Given the description of an element on the screen output the (x, y) to click on. 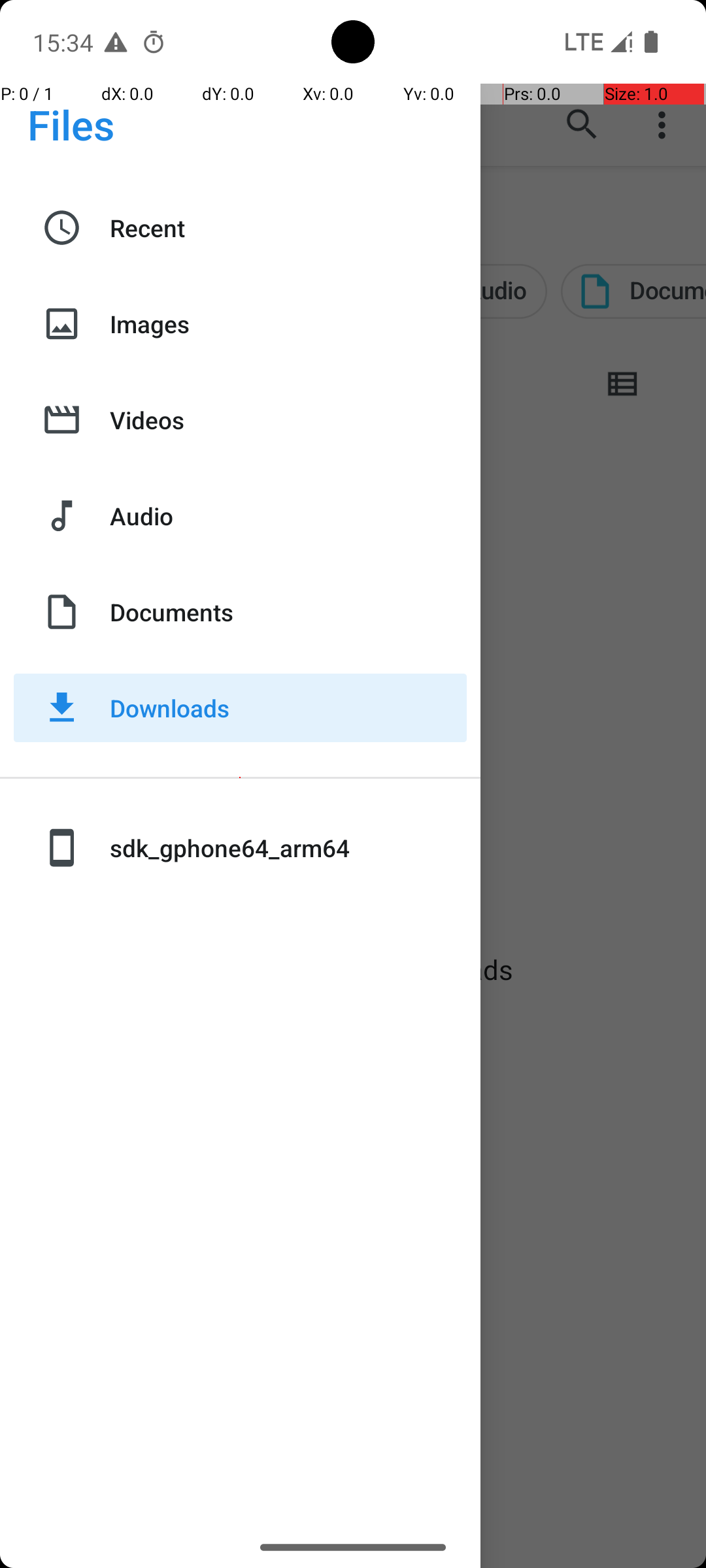
Files Element type: android.widget.TextView (70, 124)
sdk_gphone64_arm64 Element type: android.widget.TextView (287, 847)
